Given the description of an element on the screen output the (x, y) to click on. 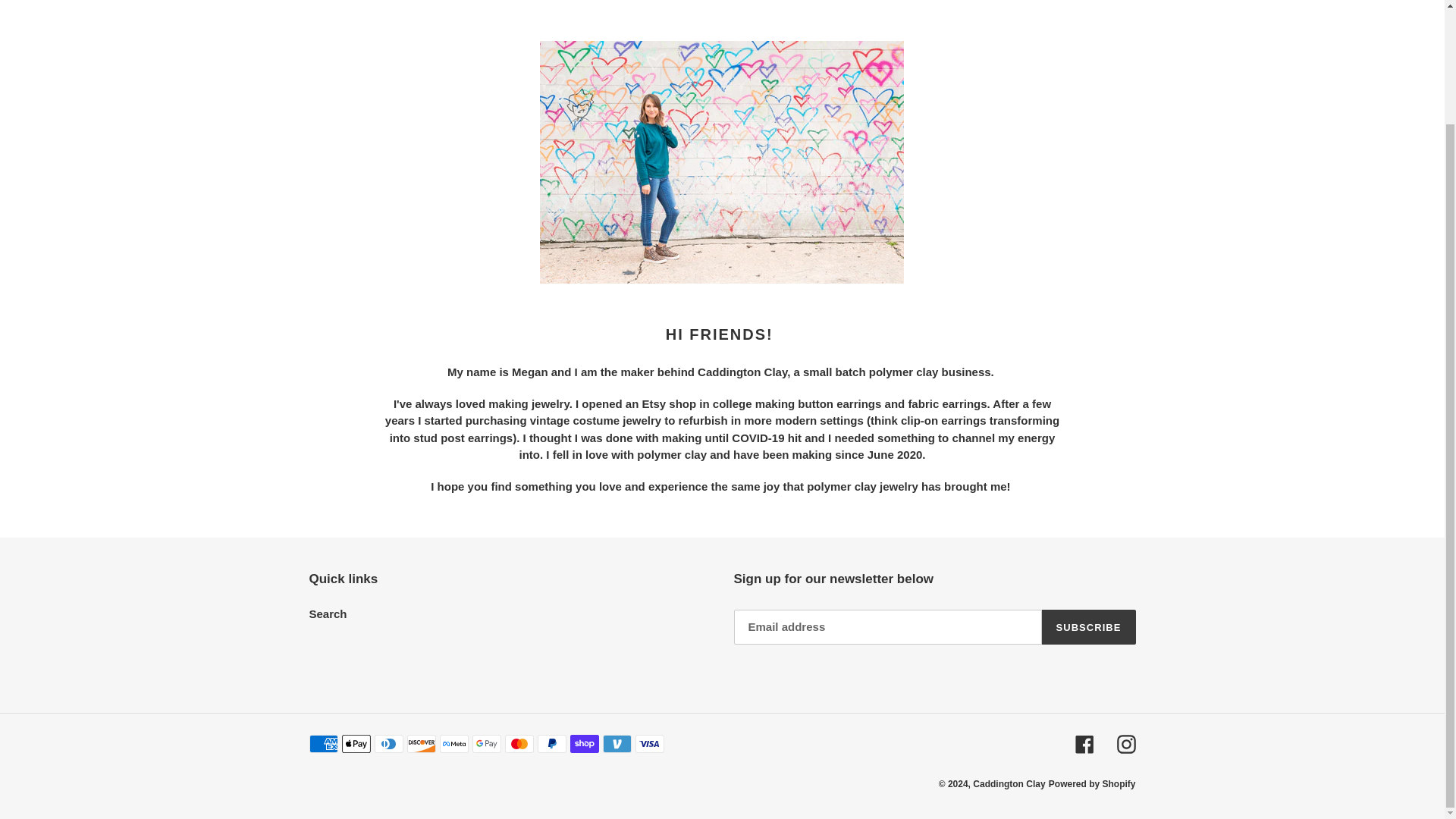
Caddington Clay (1008, 783)
Facebook (1084, 743)
Instagram (1125, 743)
Powered by Shopify (1091, 783)
SUBSCRIBE (1088, 626)
Search (327, 613)
